Given the description of an element on the screen output the (x, y) to click on. 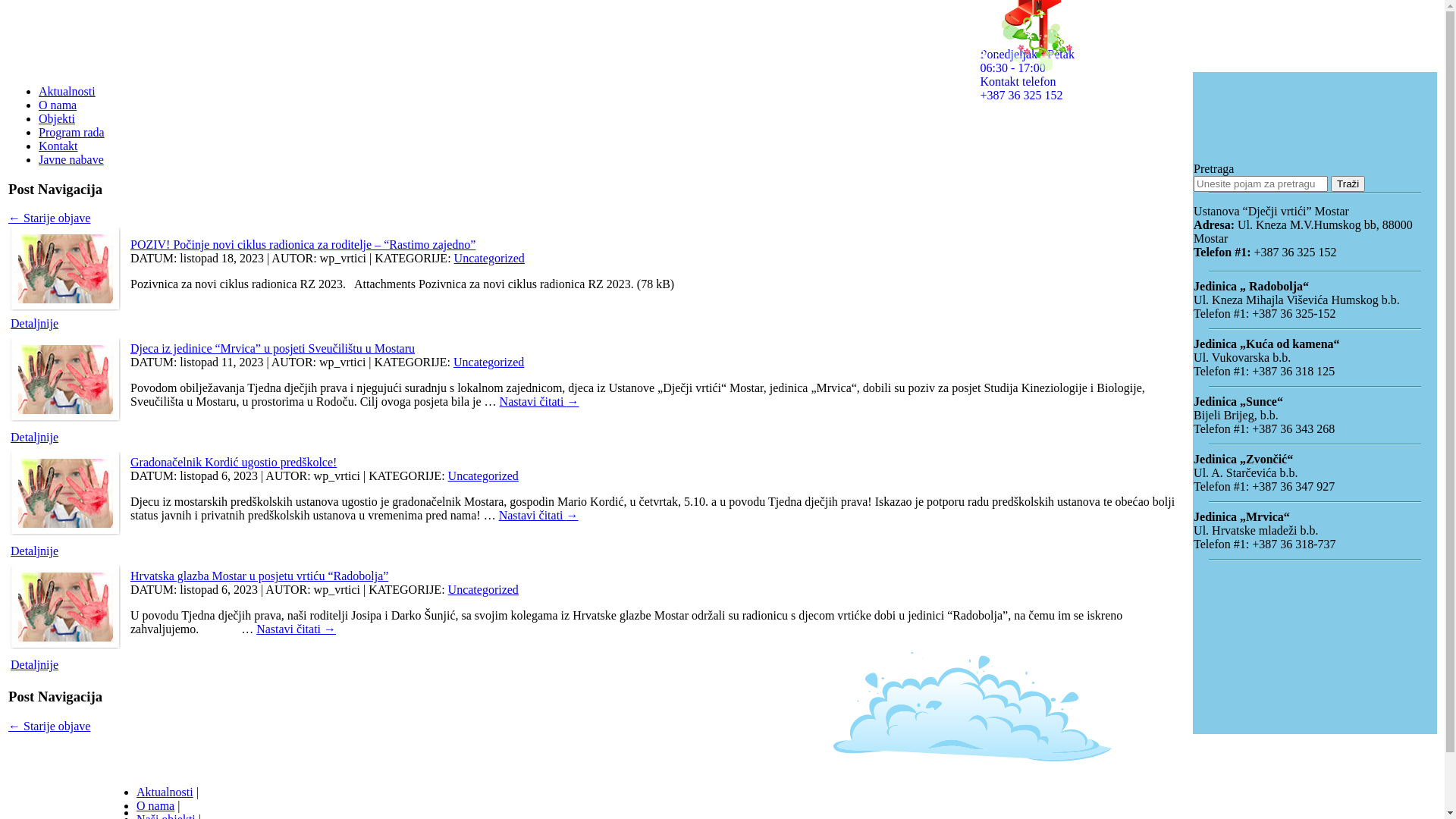
Uncategorized Element type: text (488, 361)
O nama Element type: text (155, 805)
Aktualnosti Element type: text (164, 791)
Uncategorized Element type: text (483, 475)
Pretraga Element type: hover (1347, 183)
Javne nabave Element type: text (70, 159)
Detaljnije Element type: text (34, 550)
Detaljnije Element type: text (34, 436)
Program rada Element type: text (71, 131)
Detaljnije Element type: text (34, 664)
Objekti Element type: text (56, 118)
O nama Element type: text (57, 104)
Kontakt Element type: text (58, 145)
Detaljnije Element type: text (34, 322)
Uncategorized Element type: text (489, 257)
Uncategorized Element type: text (483, 589)
Aktualnosti Element type: text (66, 90)
